Given the description of an element on the screen output the (x, y) to click on. 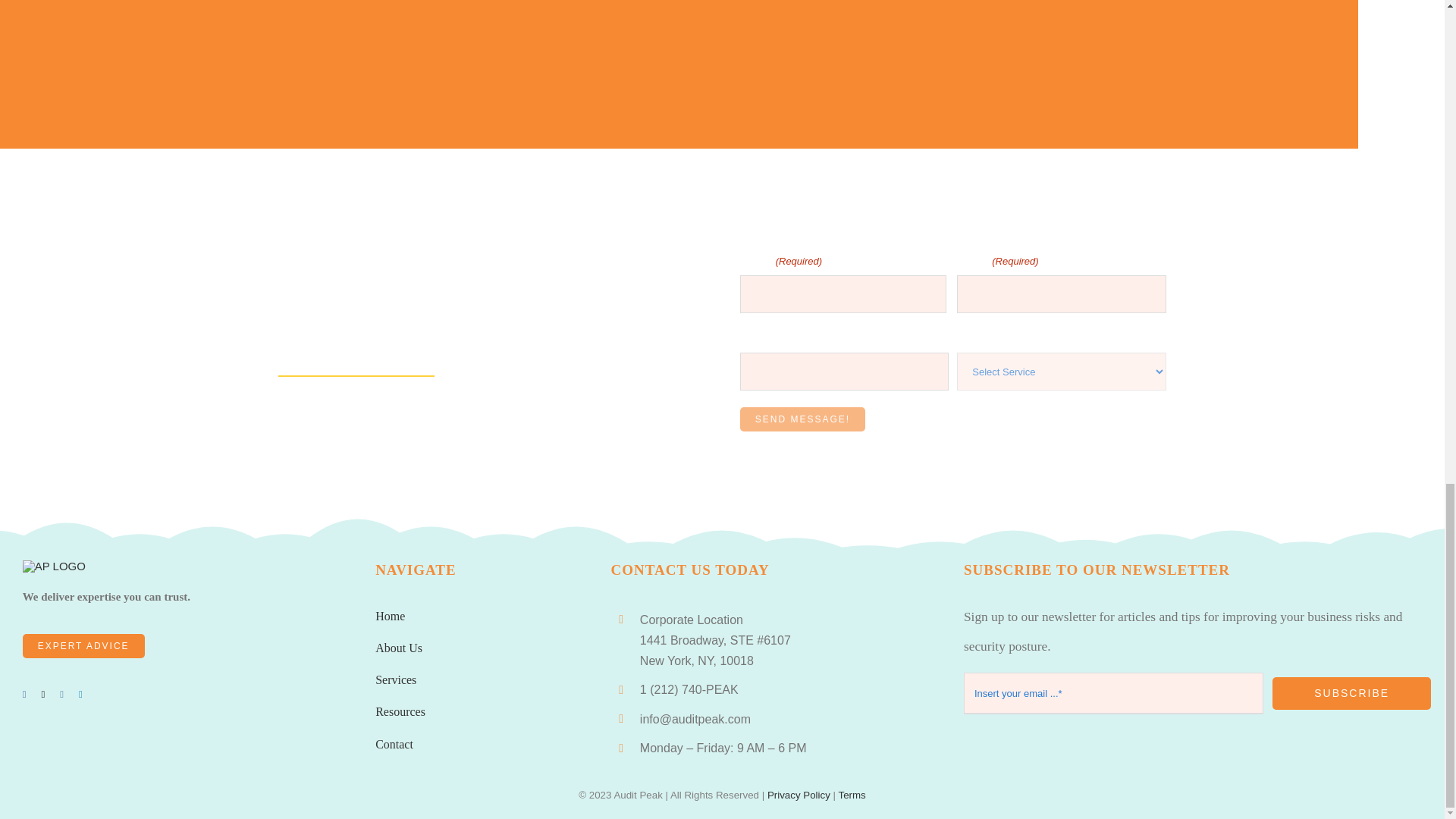
SUBSCRIBE (1351, 693)
SEND MESSAGE! (801, 419)
About Us (398, 647)
EXPERT ADVICE (83, 645)
Contact (394, 744)
Privacy Policy (798, 794)
Terms (851, 794)
Resources (400, 711)
SEND MESSAGE! (801, 419)
Home (389, 615)
Services (395, 679)
